Given the description of an element on the screen output the (x, y) to click on. 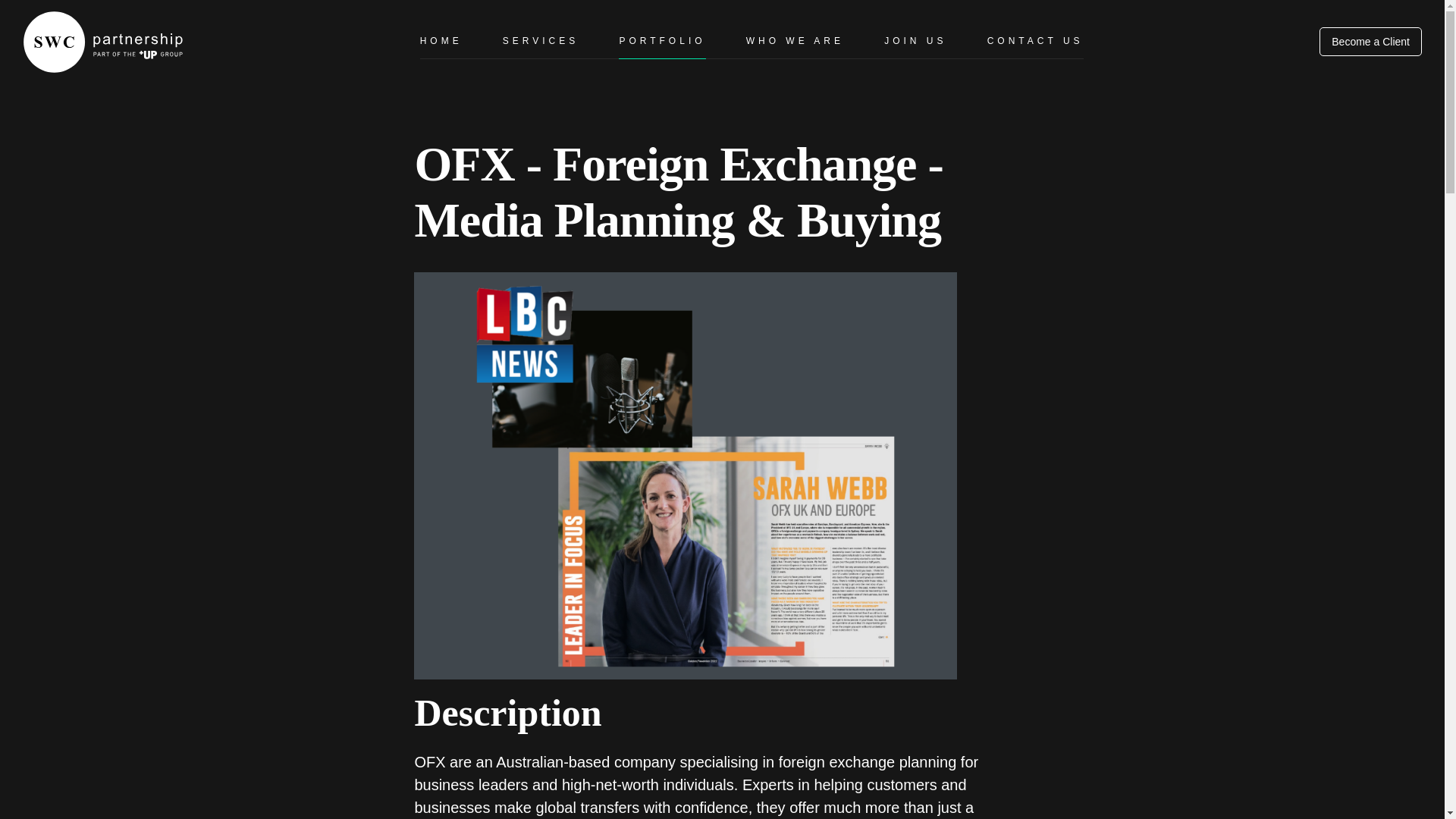
Become a Client (1370, 41)
HOME (441, 41)
SERVICES (540, 41)
CONTACT US (1035, 41)
PORTFOLIO (661, 41)
WHO WE ARE (794, 41)
JOIN US (914, 41)
SWC (13, 101)
